Given the description of an element on the screen output the (x, y) to click on. 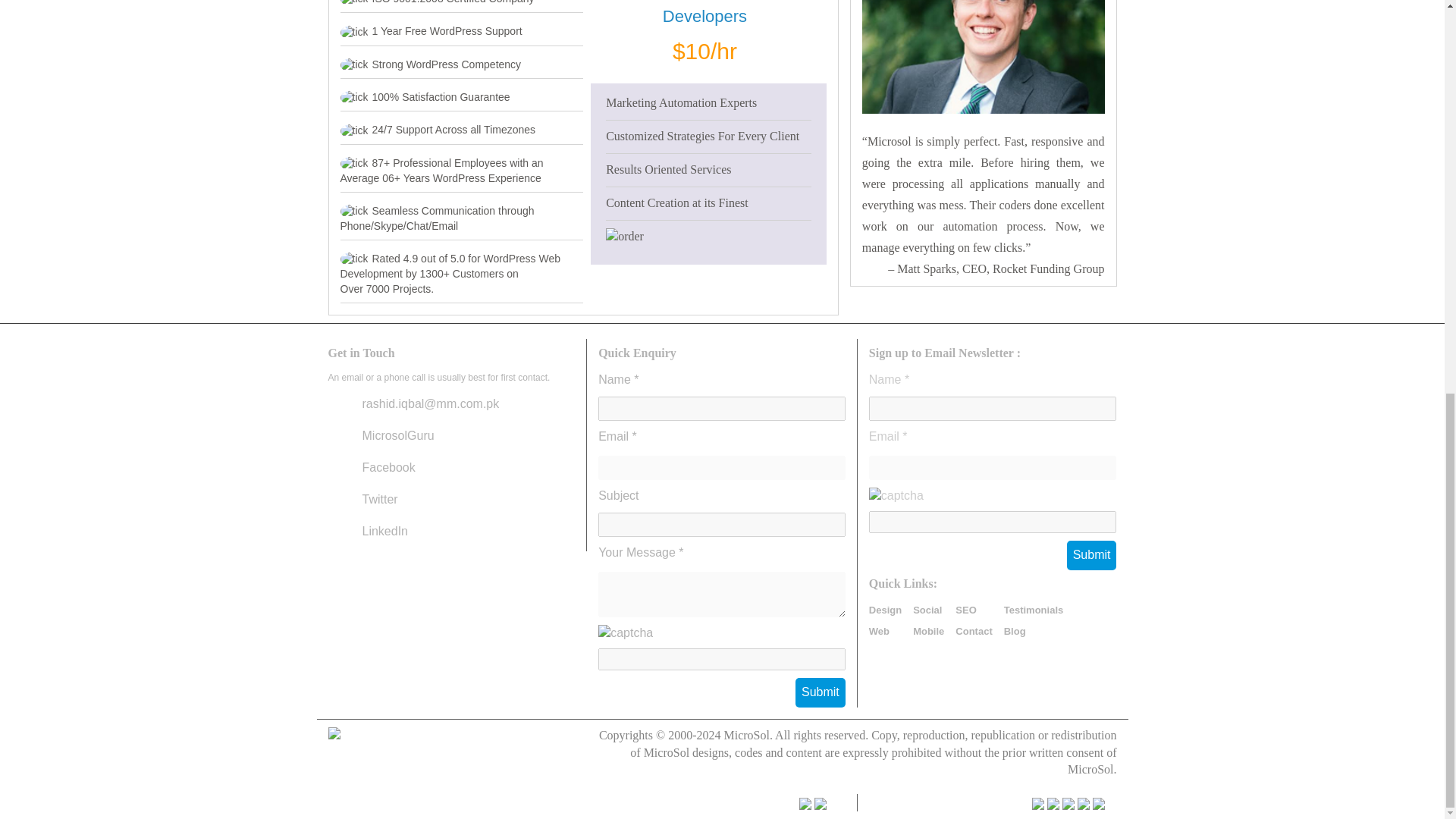
Facebook (388, 467)
Submit (1091, 555)
Twitter (379, 499)
LinkedIn (385, 530)
MicrosolGuru (397, 435)
Design (885, 609)
Submit (1091, 555)
Submit (819, 692)
Submit (819, 692)
